Given the description of an element on the screen output the (x, y) to click on. 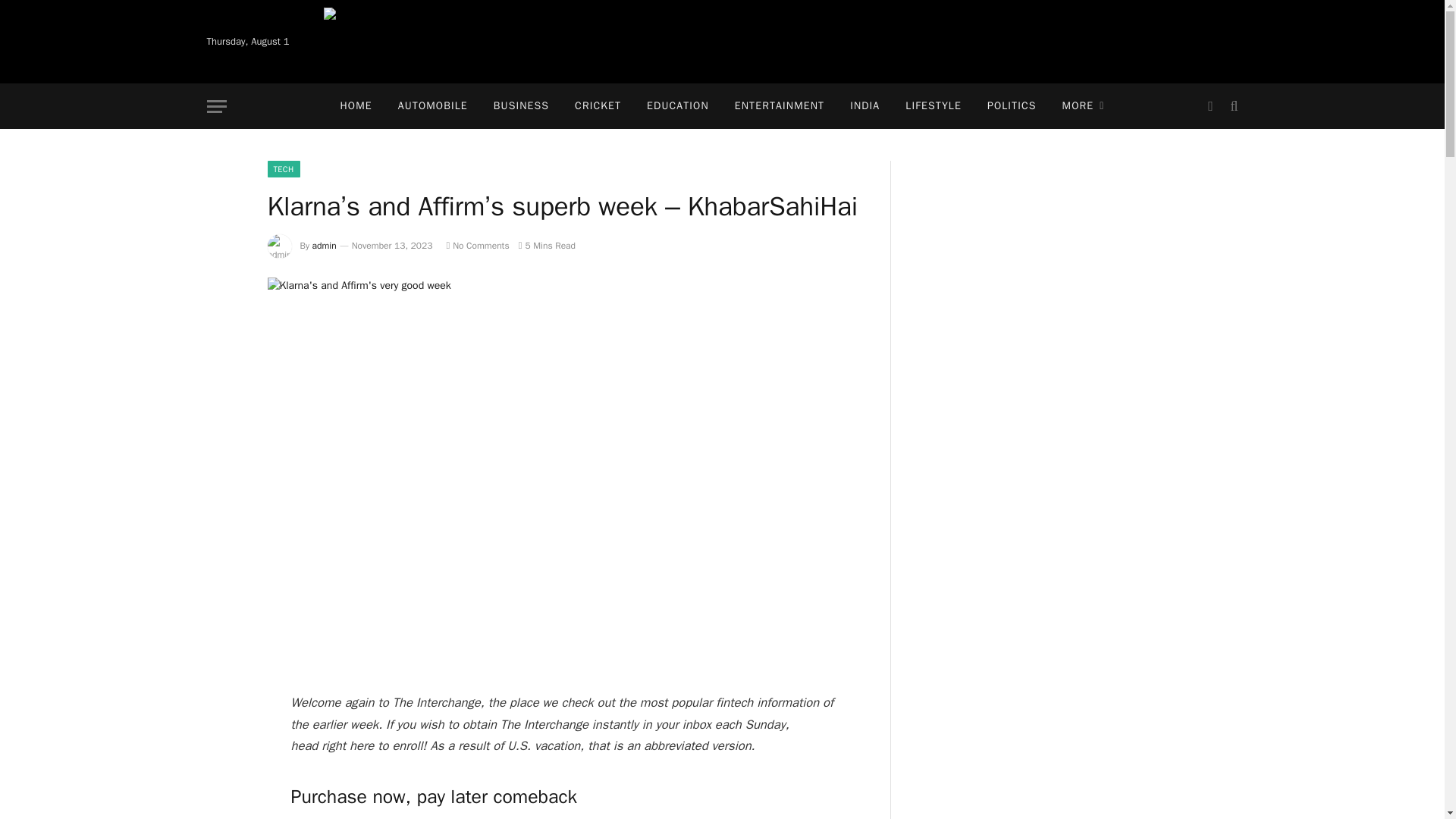
AUTOMOBILE (432, 105)
EDUCATION (677, 105)
admin (324, 245)
BUSINESS (521, 105)
POLITICS (1011, 105)
ENTERTAINMENT (779, 105)
INDIA (864, 105)
TECH (282, 168)
LIFESTYLE (933, 105)
Switch to Dark Design - easier on eyes. (1209, 106)
